Given the description of an element on the screen output the (x, y) to click on. 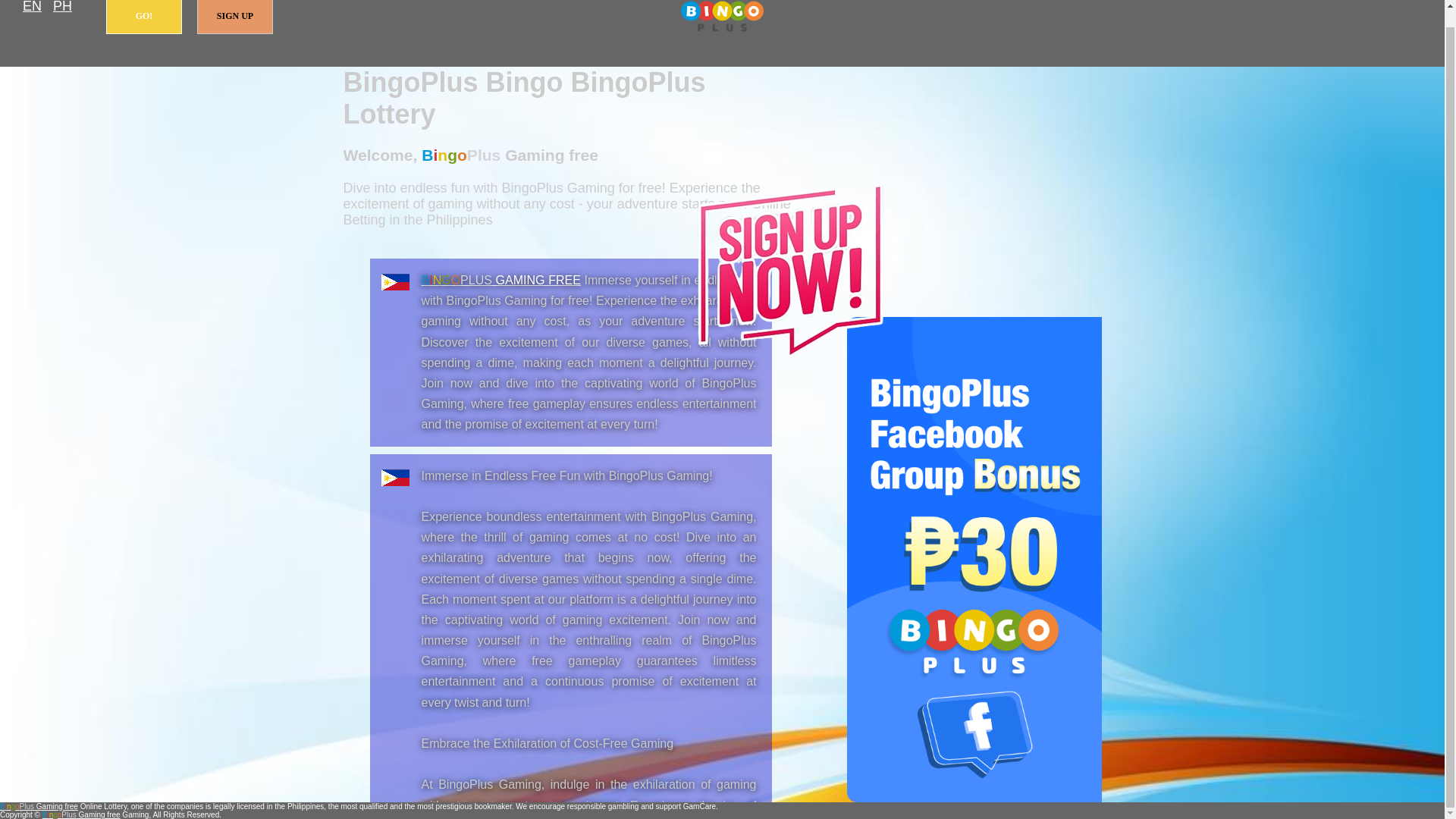
BingoPlus Gaming free (501, 279)
English - Filipino (32, 7)
Pilipinas - Filipino (61, 7)
EN (32, 7)
PH (61, 7)
GO! (144, 17)
BINGOPLUS GAMING FREE (501, 279)
SIGN UP (234, 17)
BingoPlus Gaming free (39, 806)
BingoPlus Gaming free (721, 16)
